Given the description of an element on the screen output the (x, y) to click on. 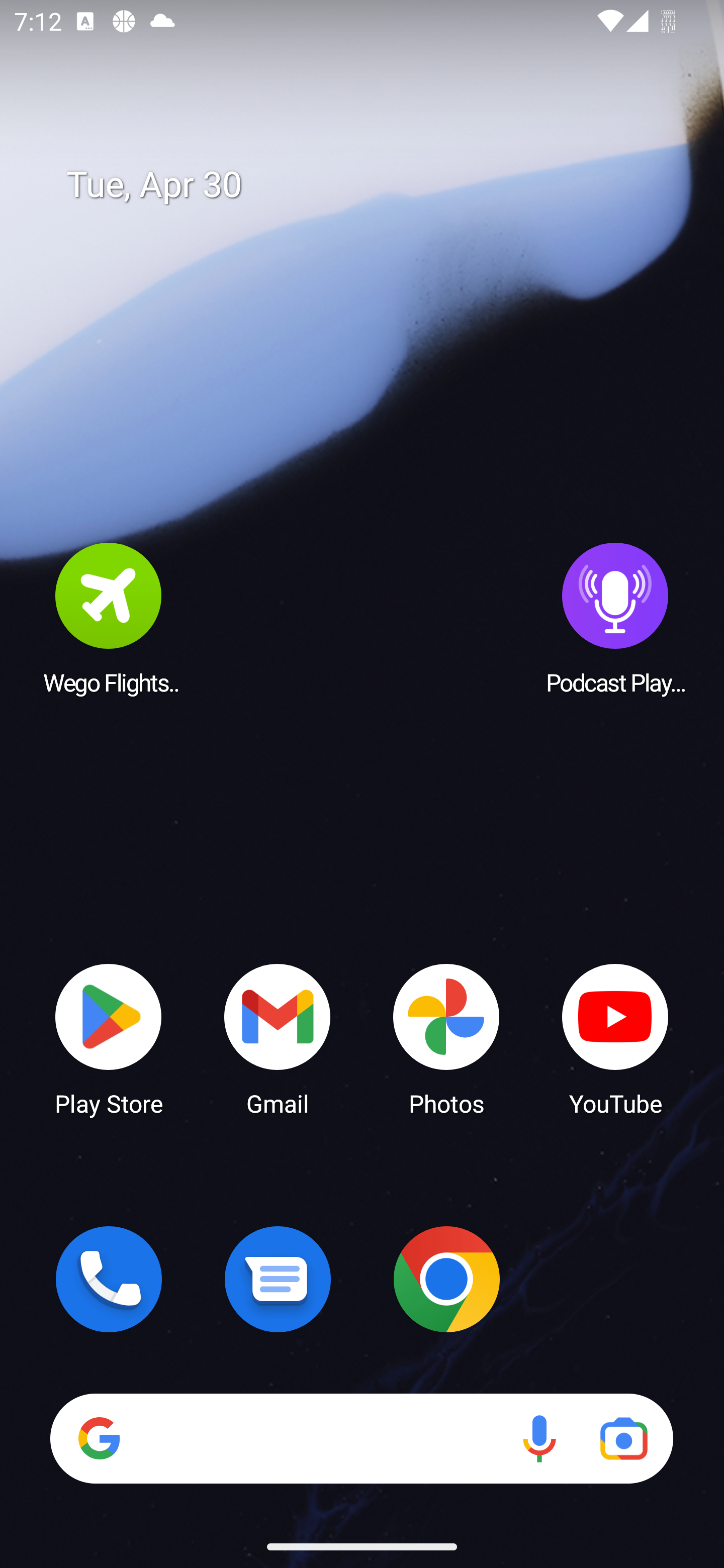
Tue, Apr 30 (375, 184)
Wego Flights & Hotels (108, 617)
Podcast Player (615, 617)
Play Store (108, 1038)
Gmail (277, 1038)
Photos (445, 1038)
YouTube (615, 1038)
Phone (108, 1279)
Messages (277, 1279)
Chrome (446, 1279)
Voice search (539, 1438)
Google Lens (623, 1438)
